Given the description of an element on the screen output the (x, y) to click on. 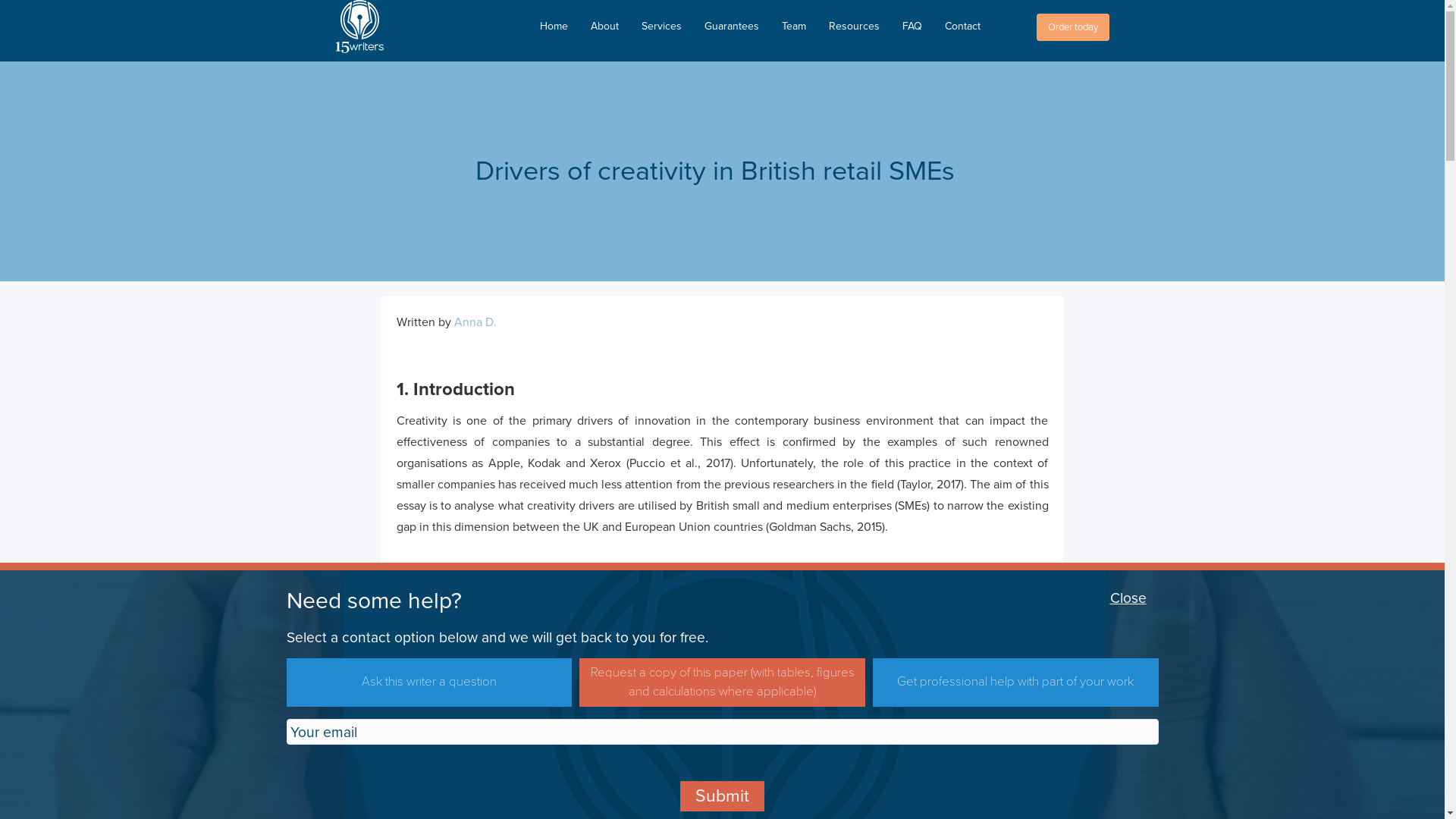
Team Element type: text (793, 26)
Home Element type: text (552, 26)
Resources Element type: text (854, 26)
Guarantees Element type: text (731, 26)
About Element type: text (604, 26)
Submit Element type: text (722, 796)
Anna D. Element type: text (474, 321)
FAQ Element type: text (911, 26)
Contact Element type: text (955, 26)
Order today Element type: text (1071, 26)
Services Element type: text (660, 26)
